Given the description of an element on the screen output the (x, y) to click on. 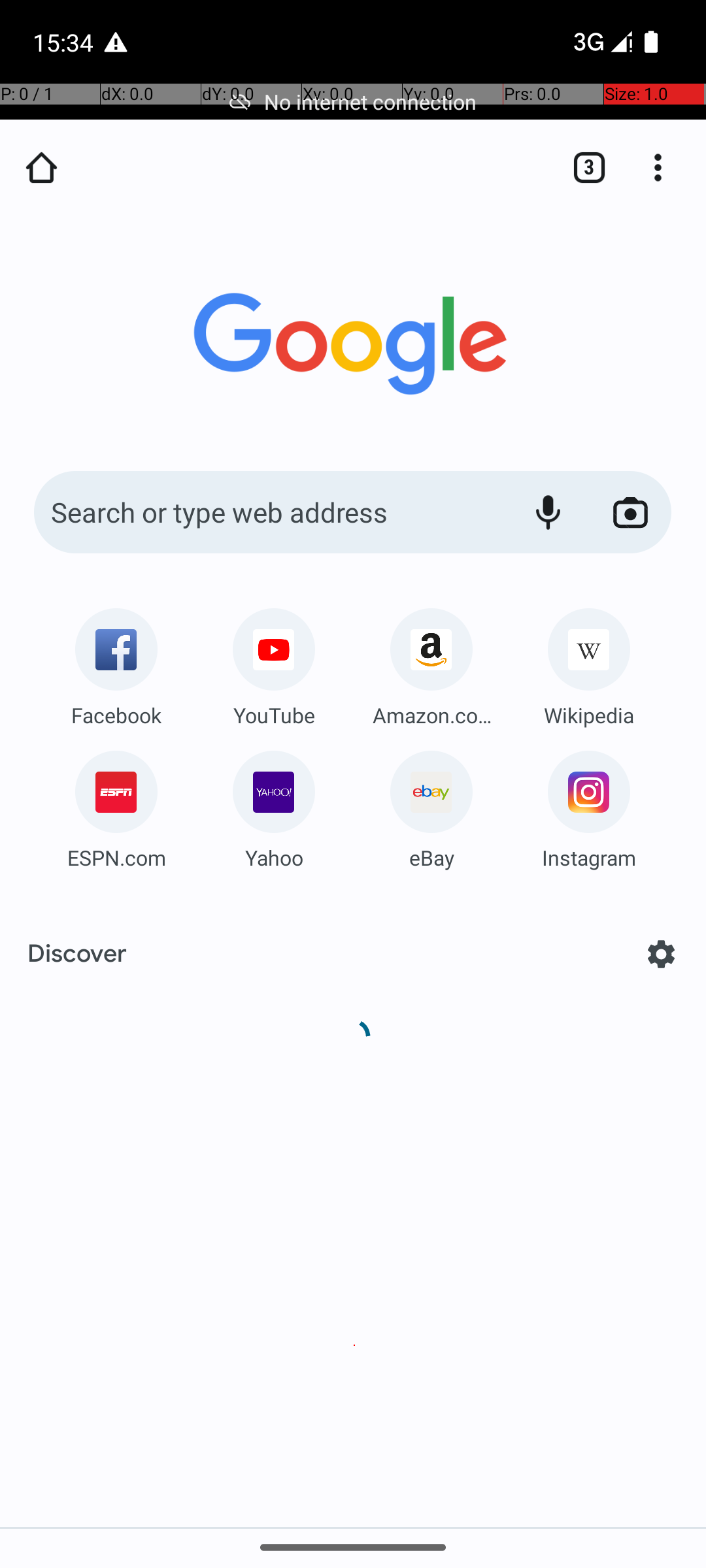
Search or type web address Element type: android.widget.EditText (267, 512)
Start voice search Element type: android.widget.ImageView (547, 512)
Search with your camera using Google Lens Element type: android.widget.ImageView (629, 512)
Navigate: Facebook: m.facebook.com Element type: android.widget.FrameLayout (115, 662)
Navigate: YouTube: m.youtube.com Element type: android.widget.FrameLayout (273, 662)
Navigate: Amazon.com: www.amazon.com Element type: android.widget.FrameLayout (431, 662)
Navigate: Wikipedia: en.m.wikipedia.org Element type: android.widget.FrameLayout (588, 662)
Navigate: ESPN.com: www.espn.com Element type: android.widget.FrameLayout (115, 804)
Navigate: Yahoo: www.yahoo.com Element type: android.widget.FrameLayout (273, 804)
Navigate: eBay: m.ebay.com Element type: android.widget.FrameLayout (431, 804)
Navigate: Instagram: www.instagram.com Element type: android.widget.FrameLayout (588, 804)
Discover Element type: android.widget.TextView (76, 953)
Options for Discover Element type: android.widget.ImageButton (660, 953)
Facebook Element type: android.widget.TextView (115, 715)
Amazon.com Element type: android.widget.TextView (430, 715)
Wikipedia Element type: android.widget.TextView (588, 715)
ESPN.com Element type: android.widget.TextView (115, 857)
Yahoo Element type: android.widget.TextView (273, 857)
eBay Element type: android.widget.TextView (430, 857)
Instagram Element type: android.widget.TextView (588, 857)
